Given the description of an element on the screen output the (x, y) to click on. 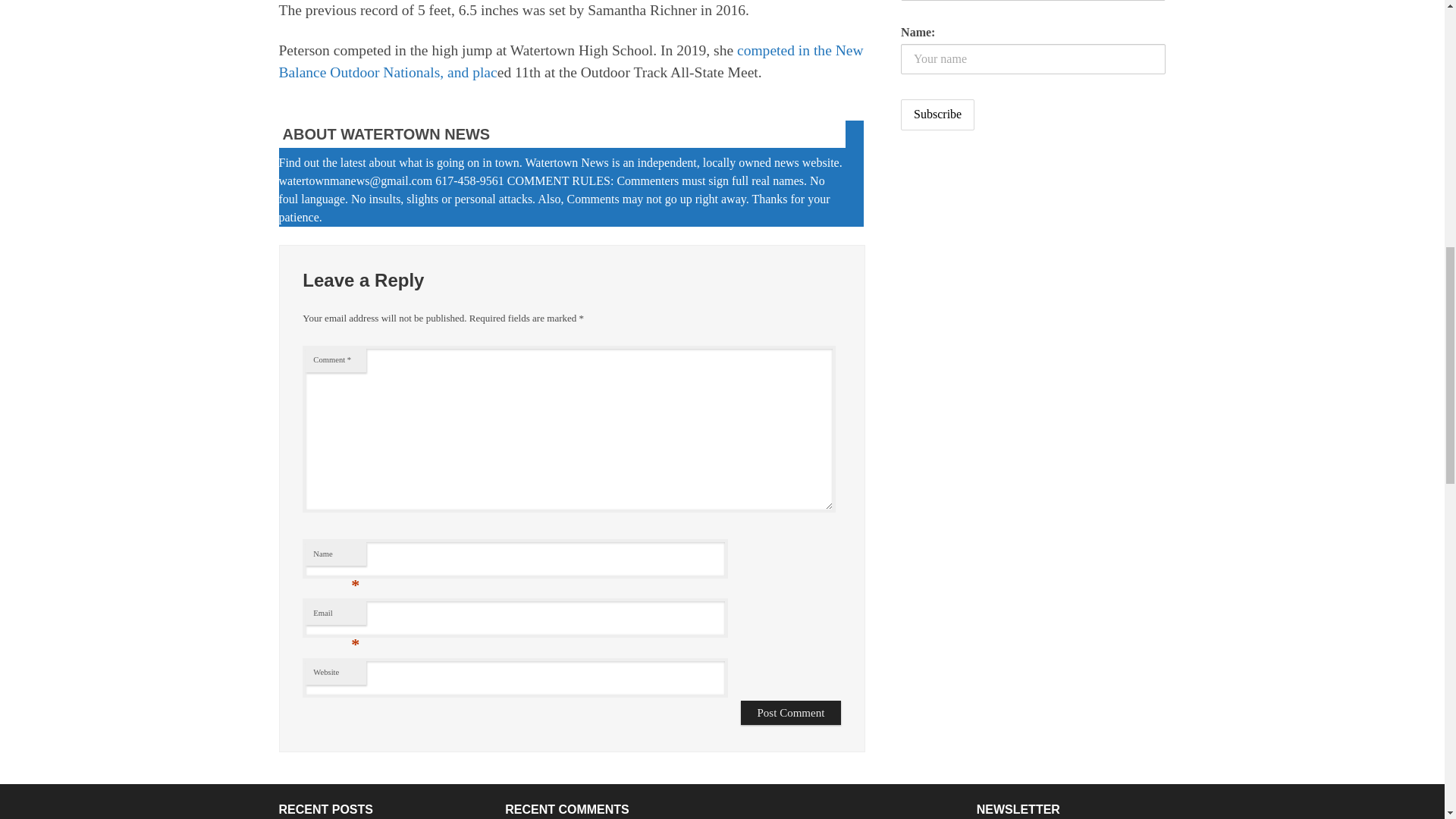
Subscribe (937, 114)
Post Comment (791, 713)
